Given the description of an element on the screen output the (x, y) to click on. 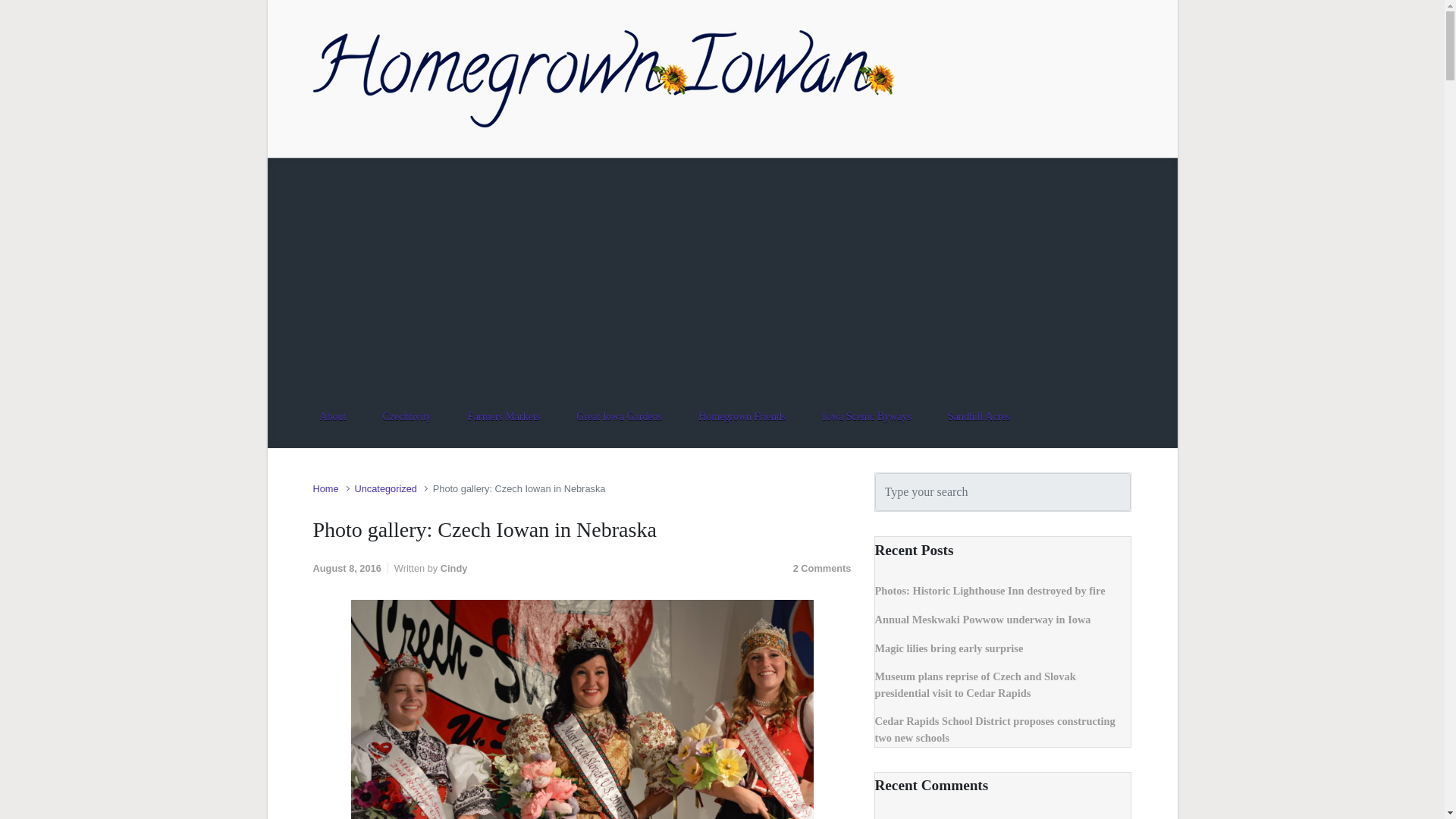
Great Iowa Gardens (619, 416)
Czechtivity (406, 416)
Iowa Scenic Byways (866, 416)
Farmers Markets (503, 416)
Sandhill Acres (979, 416)
About (332, 416)
Uncategorized (384, 488)
Homegrown Friends (741, 416)
Cindy (454, 568)
